Given the description of an element on the screen output the (x, y) to click on. 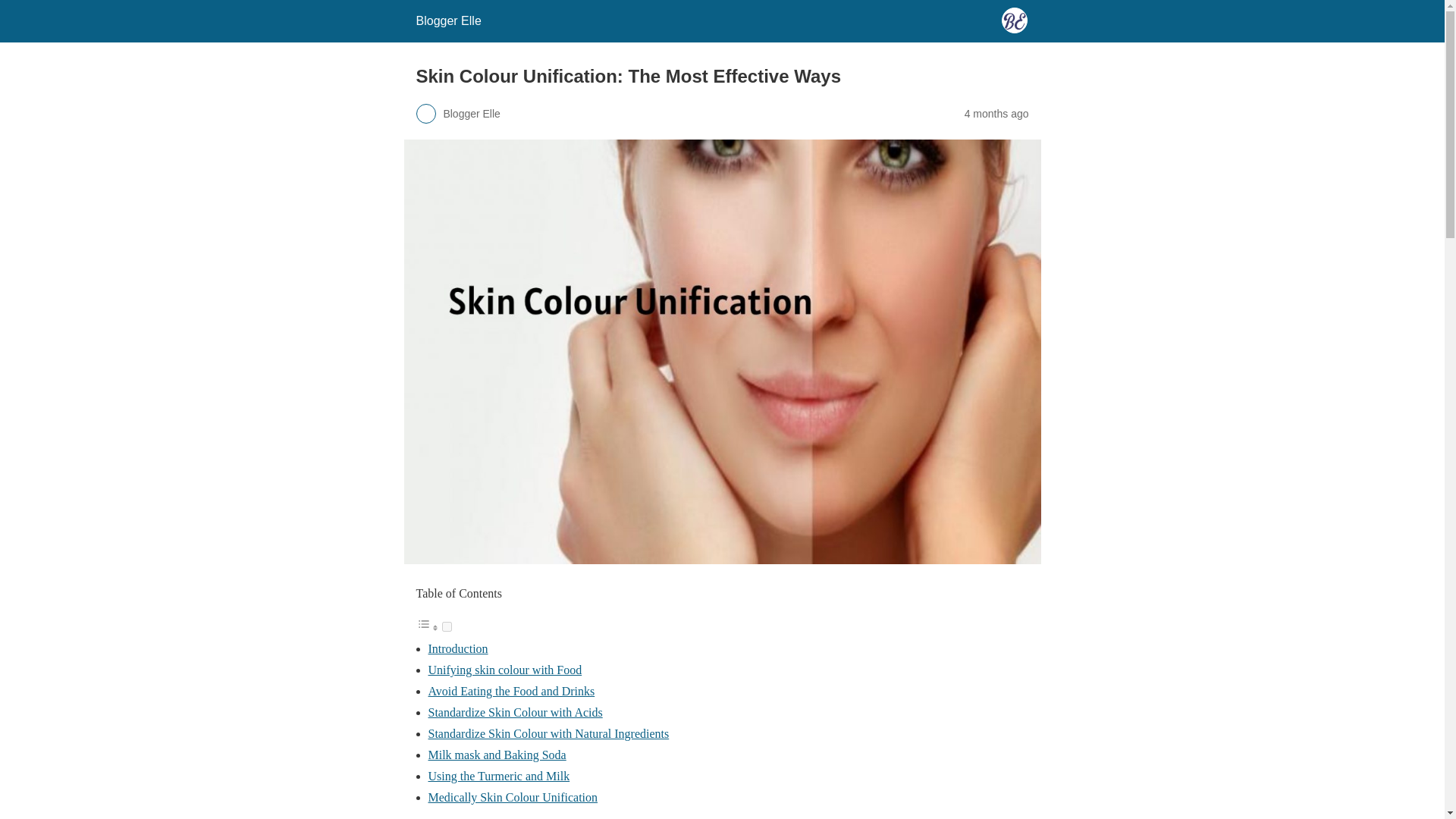
Standardize Skin Colour with Acids (515, 712)
Medically Skin Colour Unification (512, 797)
Avoid Eating the Food and Drinks (511, 690)
Standardize Skin Colour with Natural Ingredients (548, 733)
Milk mask and Baking Soda (497, 754)
Medically Skin Colour Unification (512, 797)
Unifying skin colour with Food (504, 669)
Standardize Skin Colour with Natural Ingredients (548, 733)
Avoid Eating the Food and Drinks (511, 690)
Standardize Skin Colour with Acids (515, 712)
Introduction (457, 648)
Introduction (457, 648)
Blogger Elle (447, 20)
Using the Turmeric and Milk (498, 775)
Unifying skin colour with Food (504, 669)
